Given the description of an element on the screen output the (x, y) to click on. 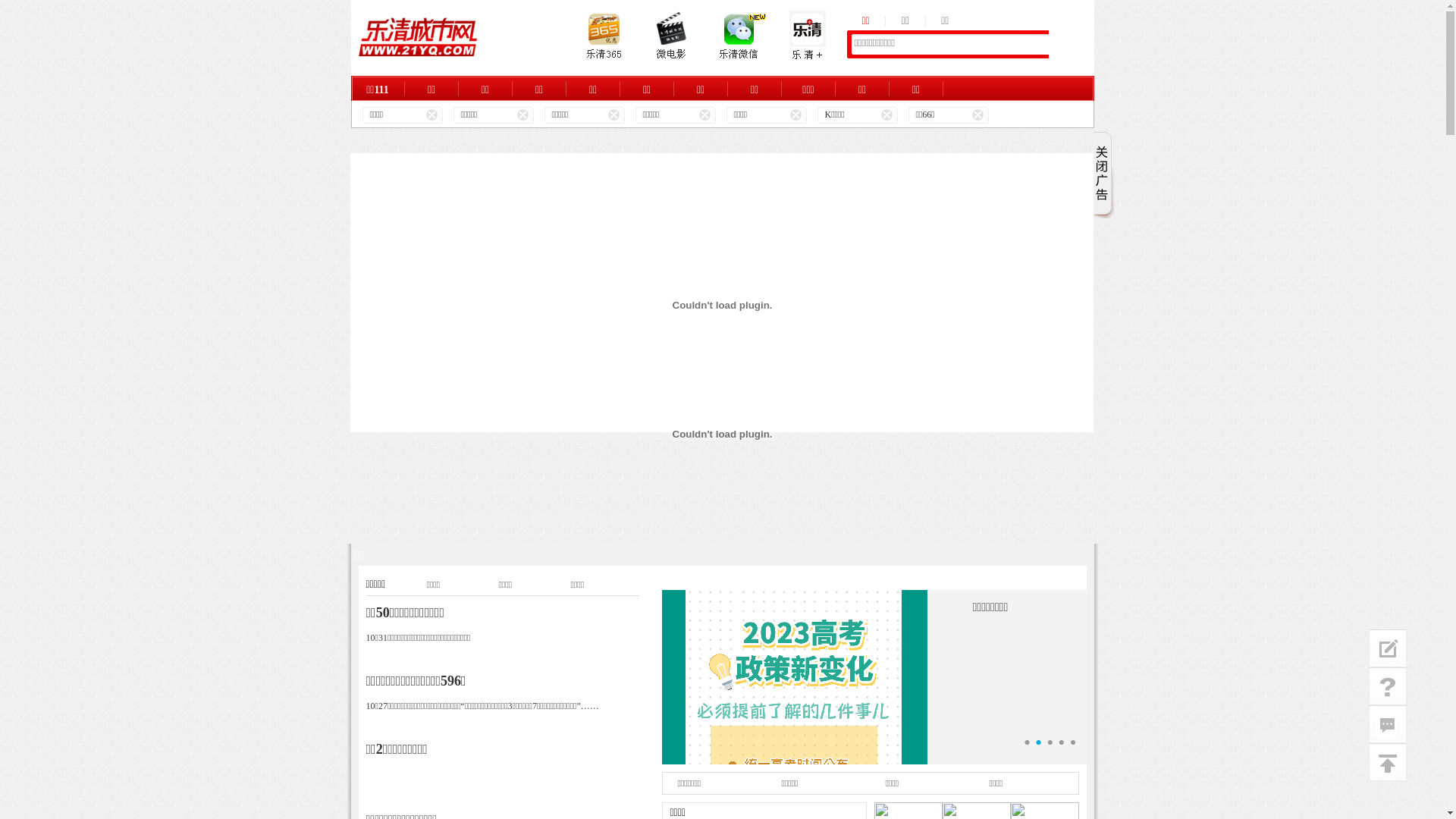
  Element type: text (1039, 114)
